Given the description of an element on the screen output the (x, y) to click on. 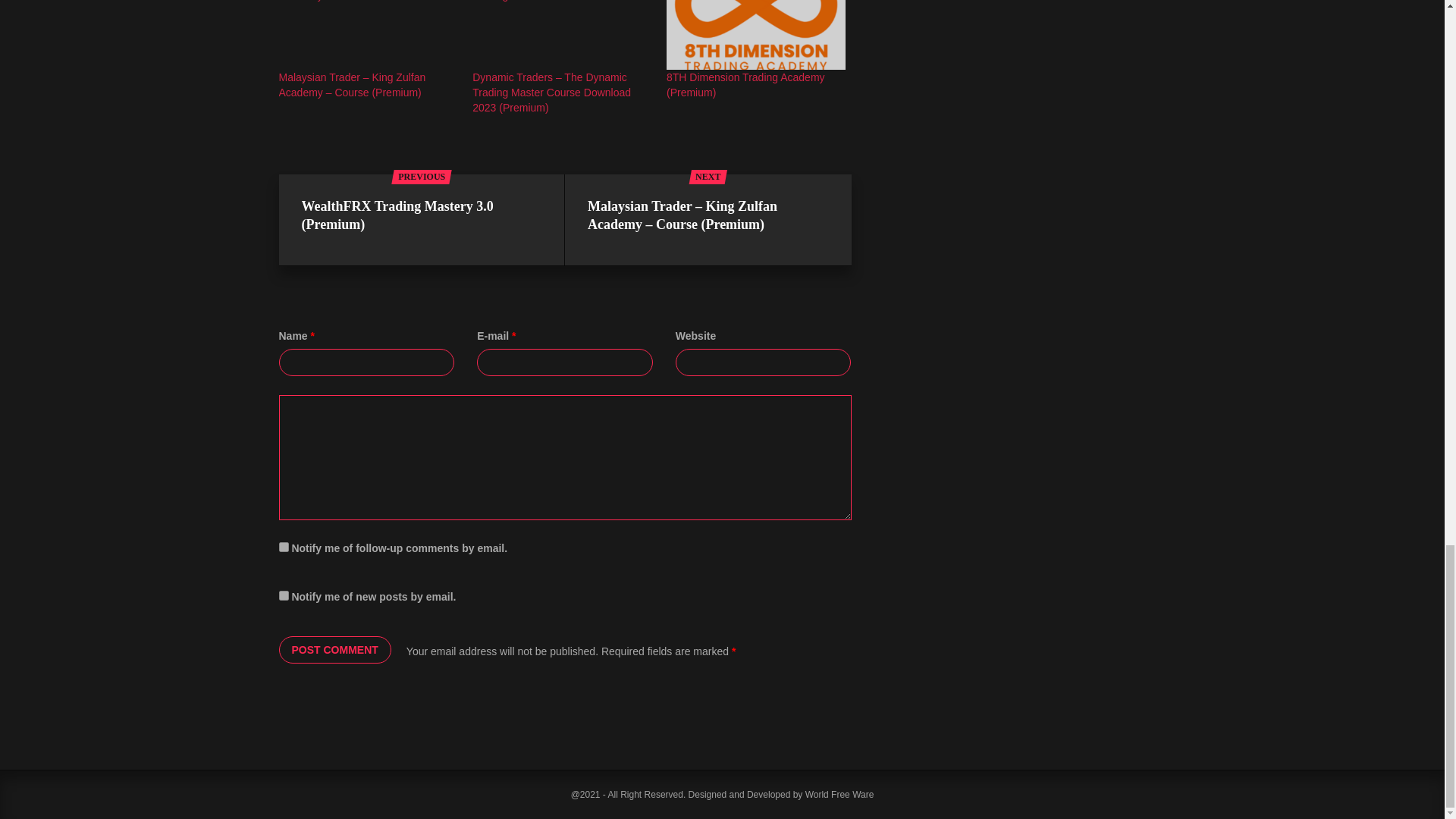
subscribe (283, 547)
Post comment (335, 649)
subscribe (283, 595)
